Given the description of an element on the screen output the (x, y) to click on. 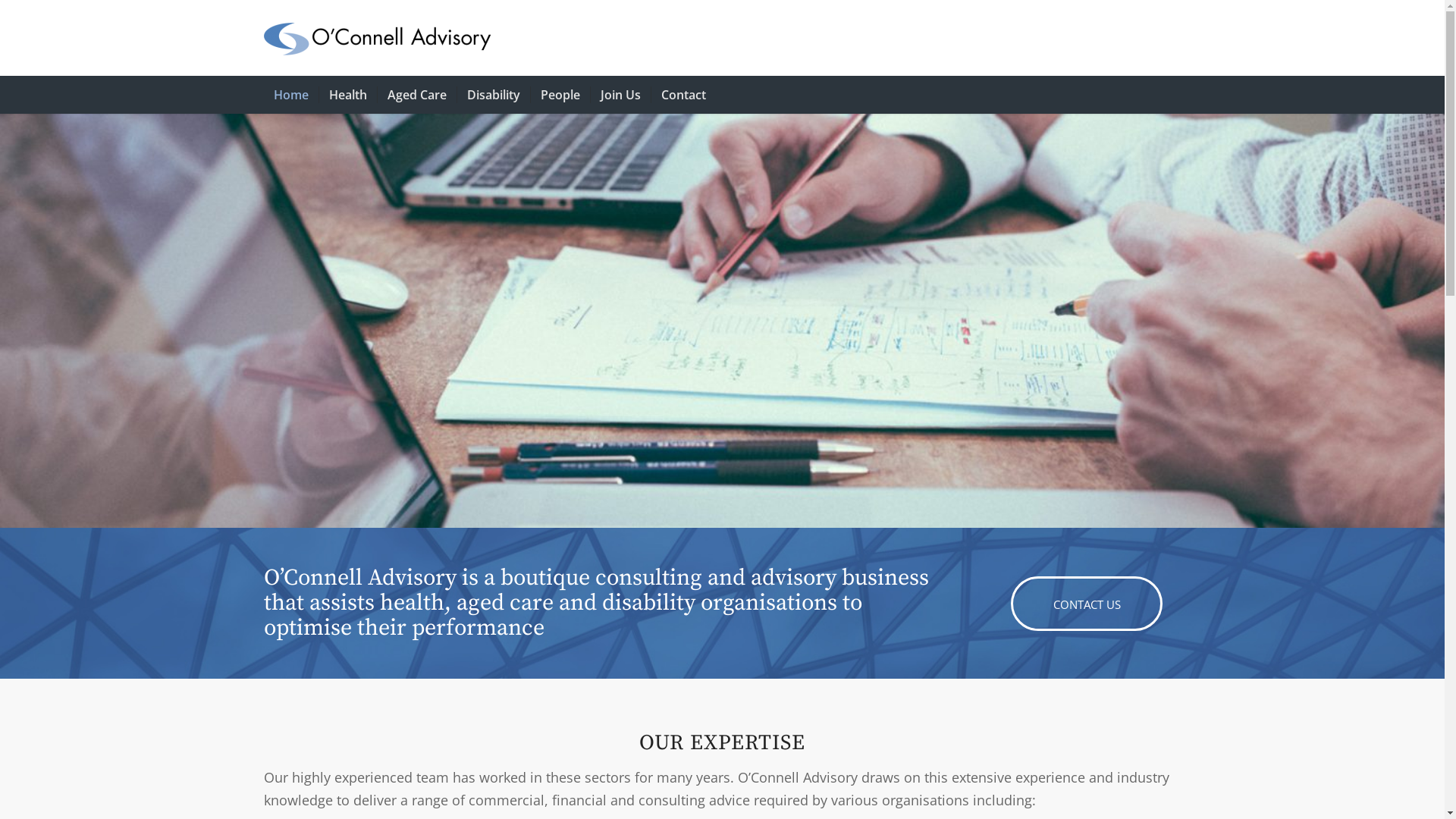
People Element type: text (559, 94)
Home Element type: text (290, 94)
Disability Element type: text (493, 94)
Join Us Element type: text (619, 94)
Aged Care Element type: text (415, 94)
CONTACT US Element type: text (1086, 603)
Contact Element type: text (682, 94)
Health Element type: text (347, 94)
